Given the description of an element on the screen output the (x, y) to click on. 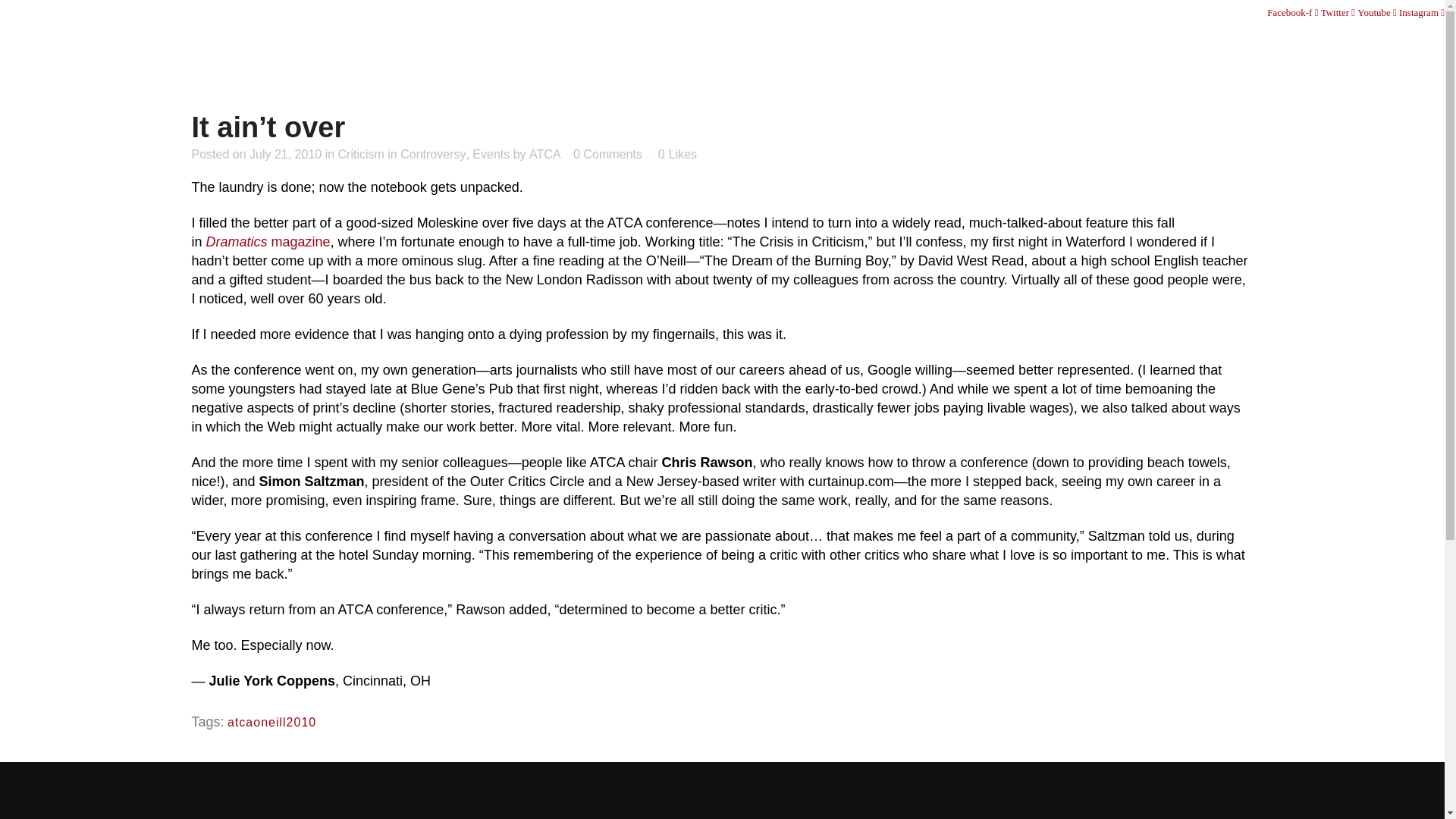
Facebook-f (1293, 12)
Like this (677, 154)
SEARCH (1231, 12)
AWARDS (1180, 44)
MEMBERSHIP (999, 44)
MEMBER LOGIN (1052, 12)
CONTACT US (1126, 12)
Twitter (1339, 12)
EVENTS (1098, 44)
DONATE (1184, 12)
Youtube (1377, 12)
ABOUT ATCA (883, 44)
COMMENTARY (1284, 44)
